Given the description of an element on the screen output the (x, y) to click on. 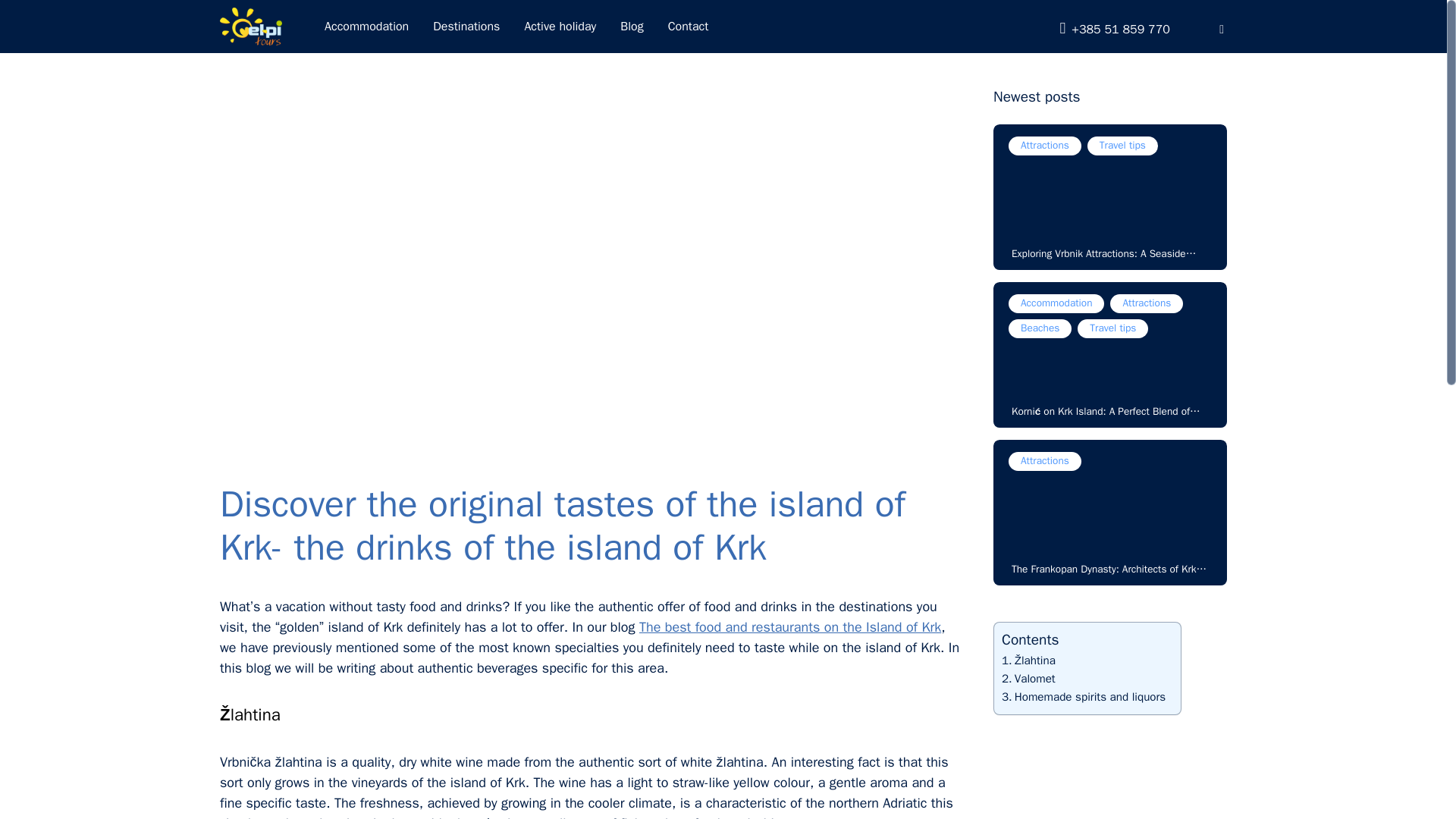
Destinations (465, 26)
Valomet (1028, 678)
Accommodation (366, 26)
Homemade spirits and liquors (1083, 696)
Active holiday (559, 26)
